Given the description of an element on the screen output the (x, y) to click on. 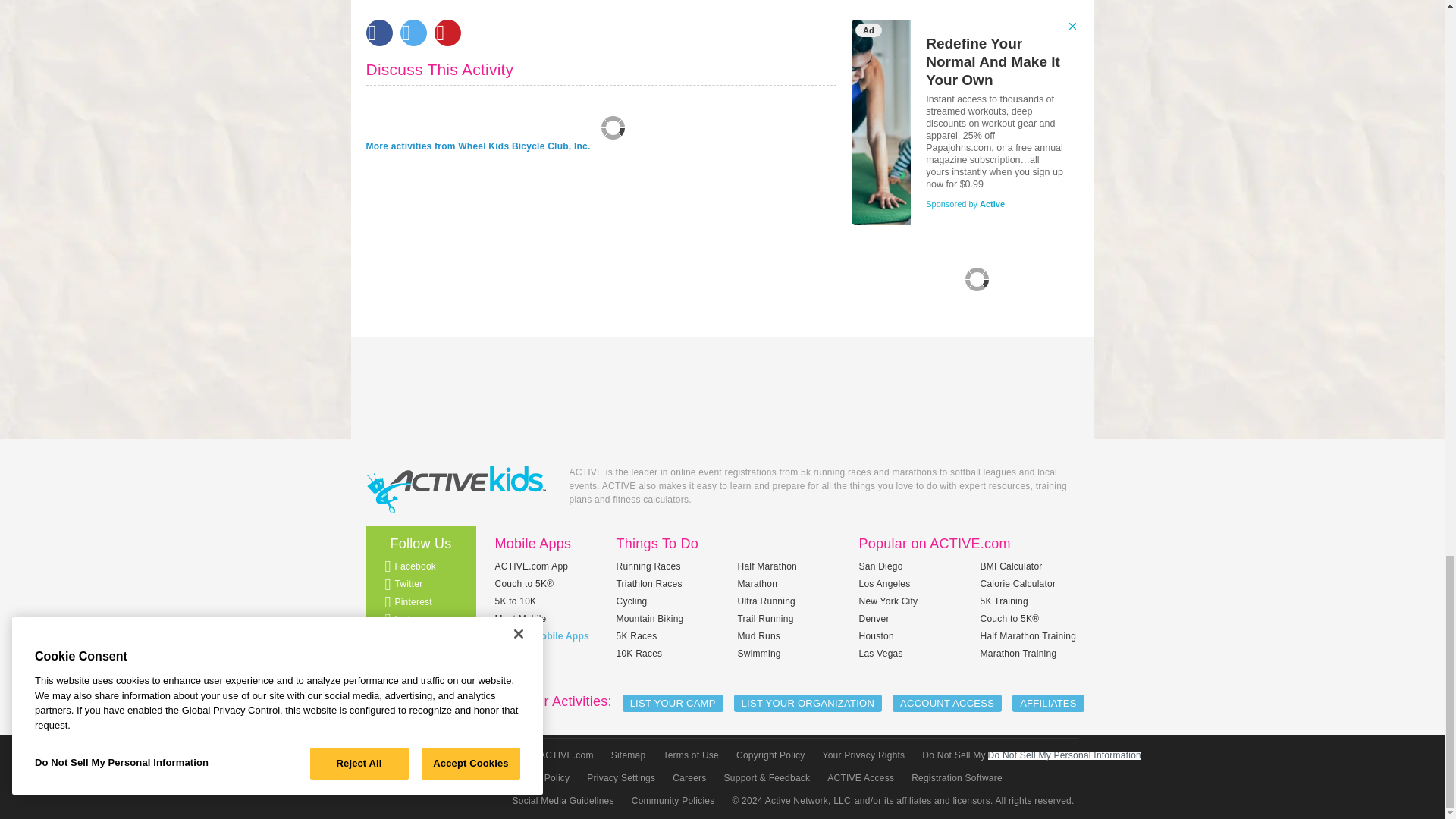
Share on Twitter (413, 32)
Terms of Use (689, 754)
Your Privacy Rights: Updated (862, 754)
Share on Facebook (378, 32)
Share on Pinterest (446, 32)
Copyright Policy (769, 754)
3rd party ad content (964, 128)
